Given the description of an element on the screen output the (x, y) to click on. 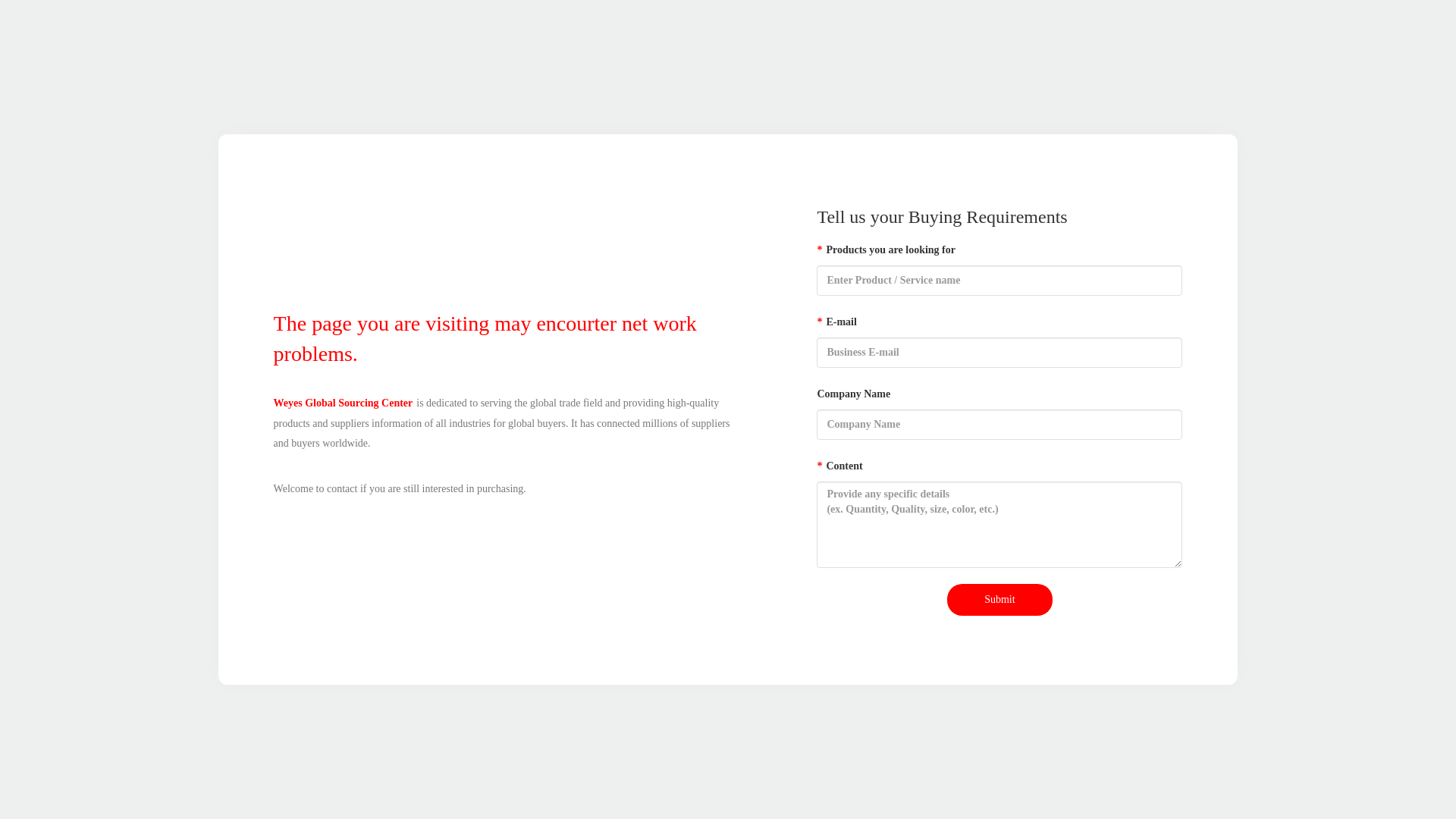
Submit (999, 599)
